Given the description of an element on the screen output the (x, y) to click on. 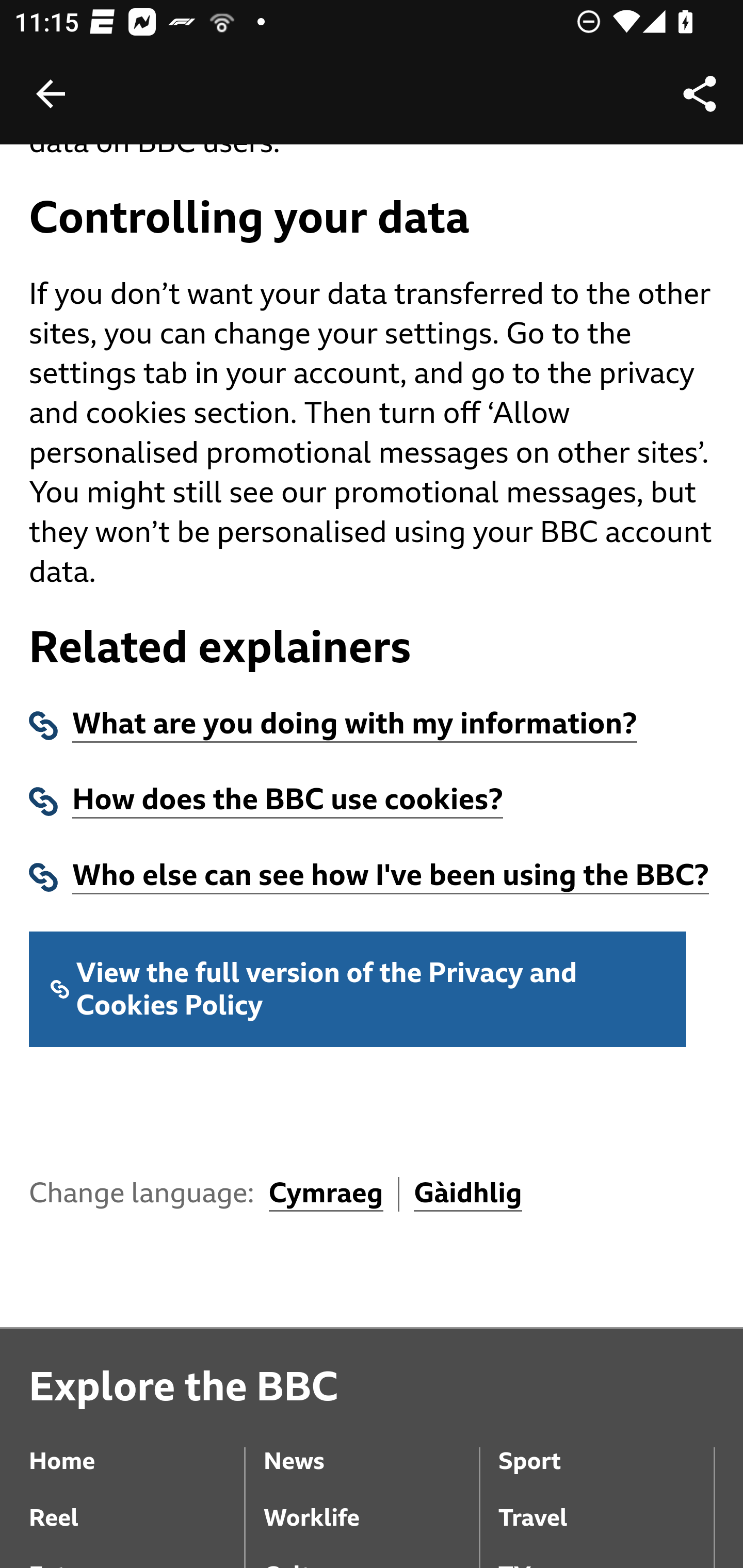
Back (50, 93)
Share (699, 93)
What are you doing with my information? (355, 725)
How does the BBC use cookies? (287, 802)
Who else can see how I've been using the BBC? (390, 877)
Cymraeg (325, 1195)
Gàidhlig (468, 1195)
Home (136, 1447)
News (370, 1447)
Sport (606, 1447)
Reel (136, 1504)
Worklife (370, 1504)
Travel (606, 1504)
